Given the description of an element on the screen output the (x, y) to click on. 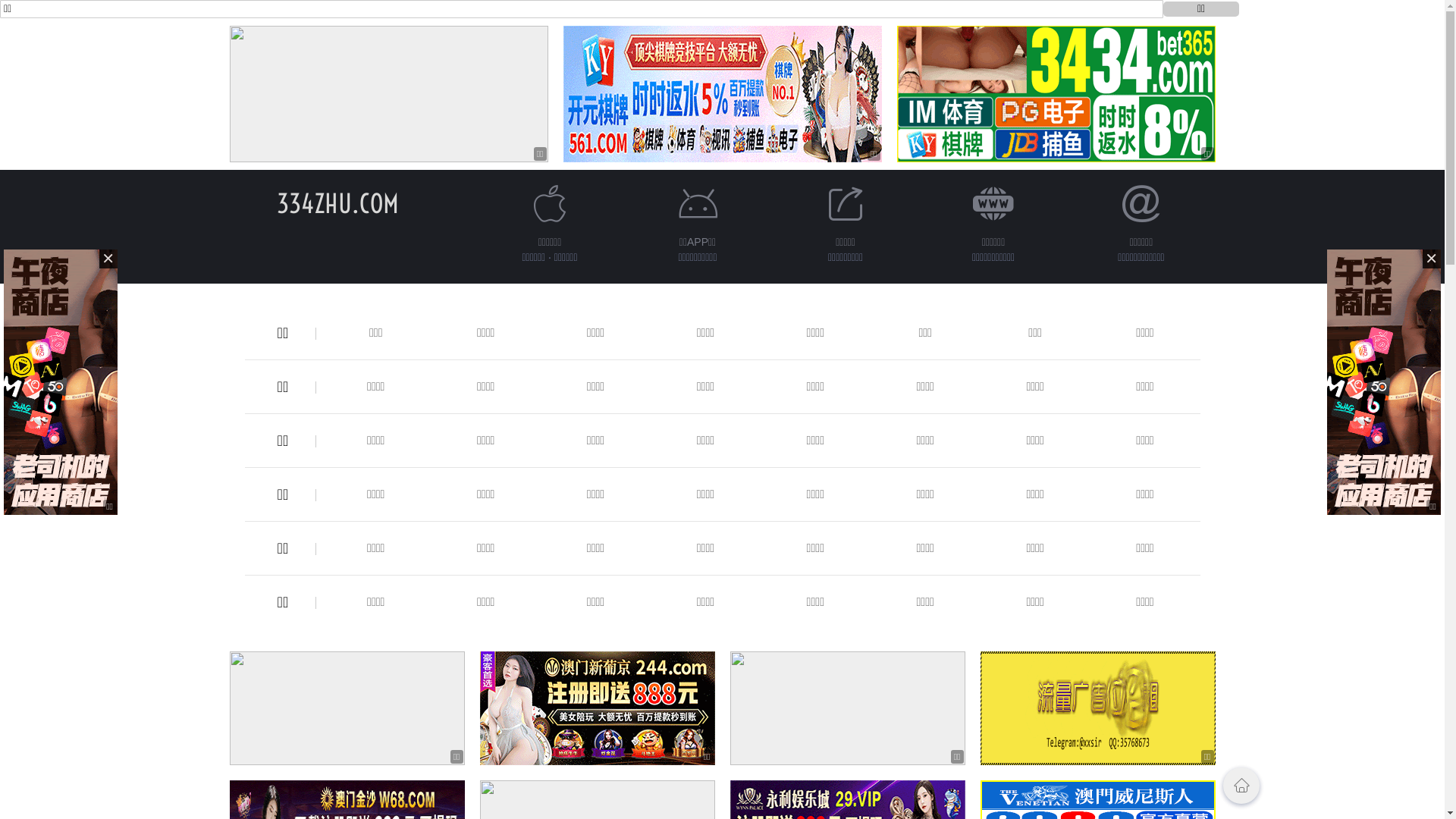
334ZHU.COM Element type: text (337, 203)
